Given the description of an element on the screen output the (x, y) to click on. 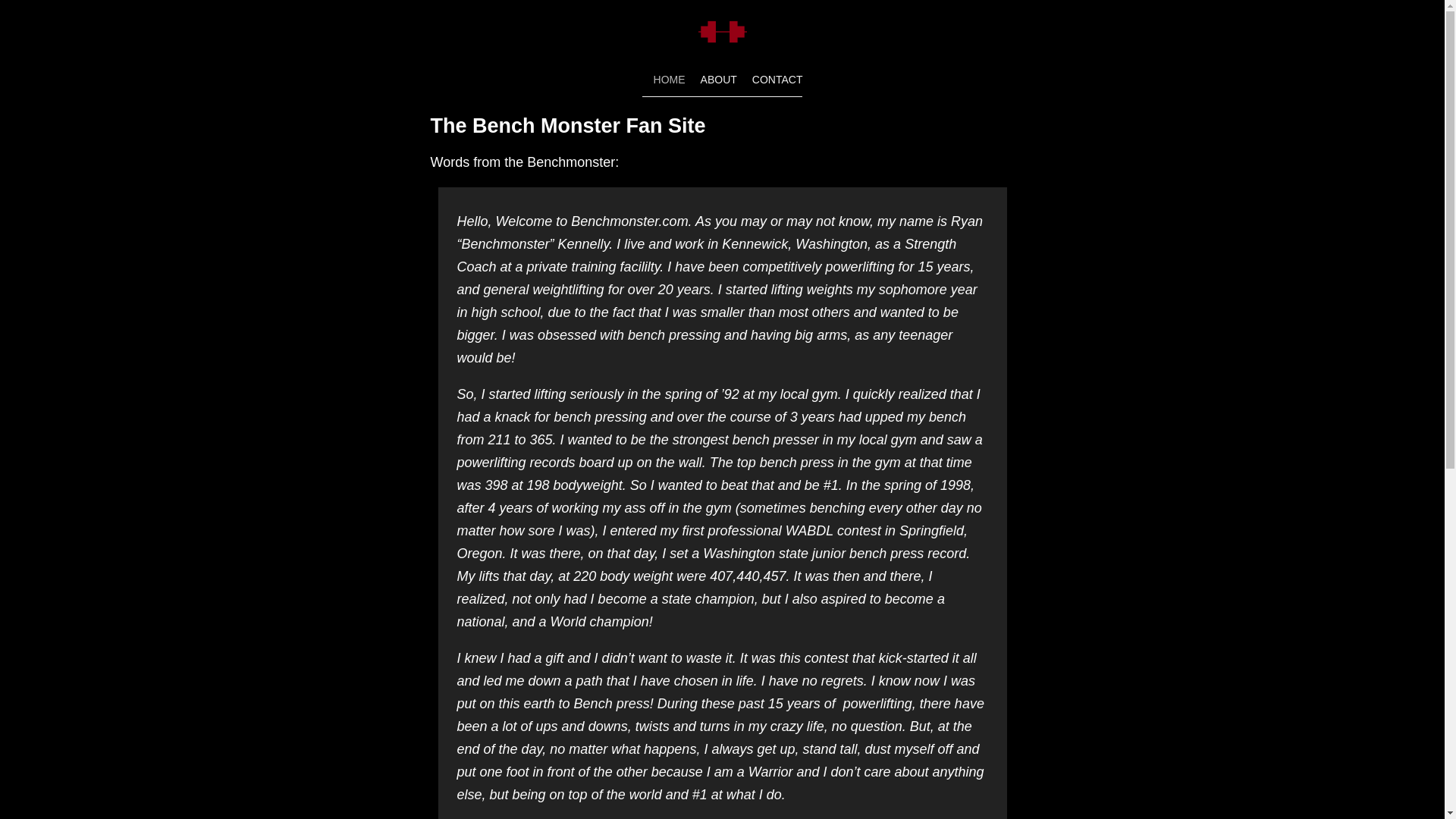
CONTACT (777, 79)
HOME (669, 79)
ABOUT (718, 79)
